Given the description of an element on the screen output the (x, y) to click on. 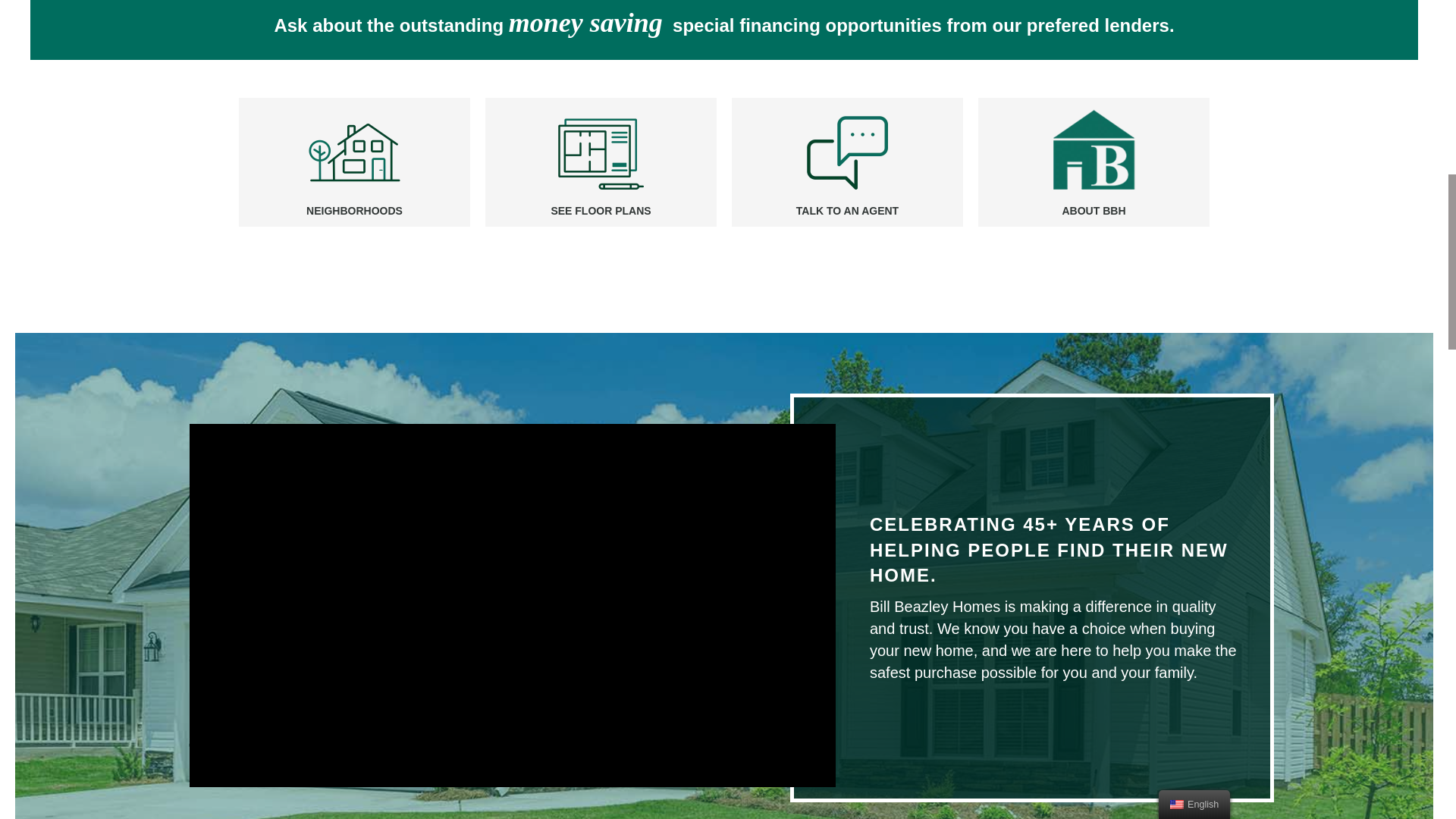
Floorplans Icon (600, 152)
See Floor Plans (600, 210)
Request a Consult Icon (847, 152)
Talk to an Agent (847, 210)
About BBH (1093, 210)
Neighborhoods (354, 152)
About BBH Icon (1093, 152)
Neighborhoods (354, 210)
